Given the description of an element on the screen output the (x, y) to click on. 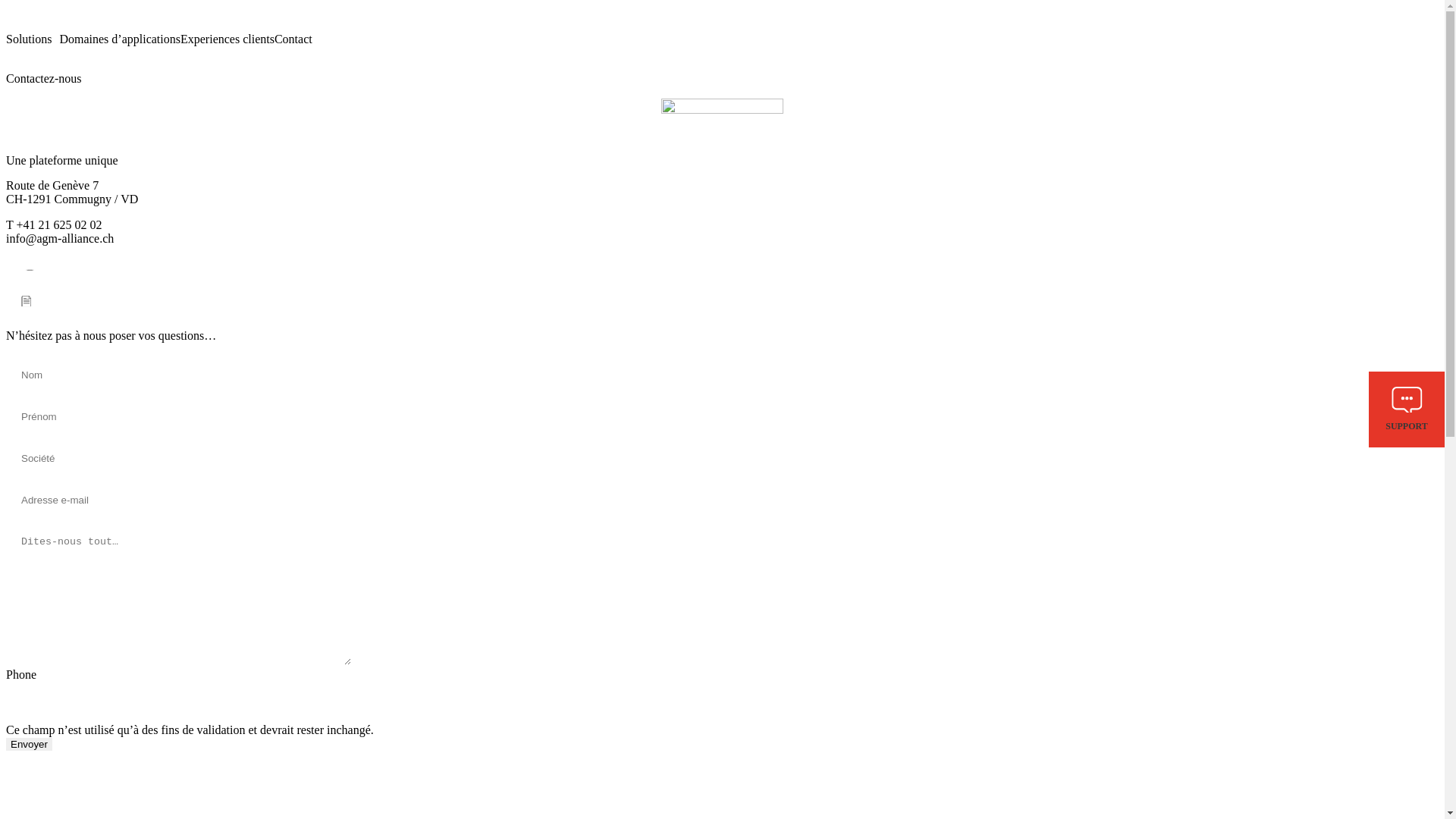
Web Ticket Element type: text (50, 302)
SUPPORT Element type: text (1406, 409)
Envoyer Element type: text (29, 743)
Contact Element type: text (293, 39)
Team Viewer Element type: text (62, 272)
Solutions Element type: text (32, 39)
Experiences clients Element type: text (227, 39)
